Given the description of an element on the screen output the (x, y) to click on. 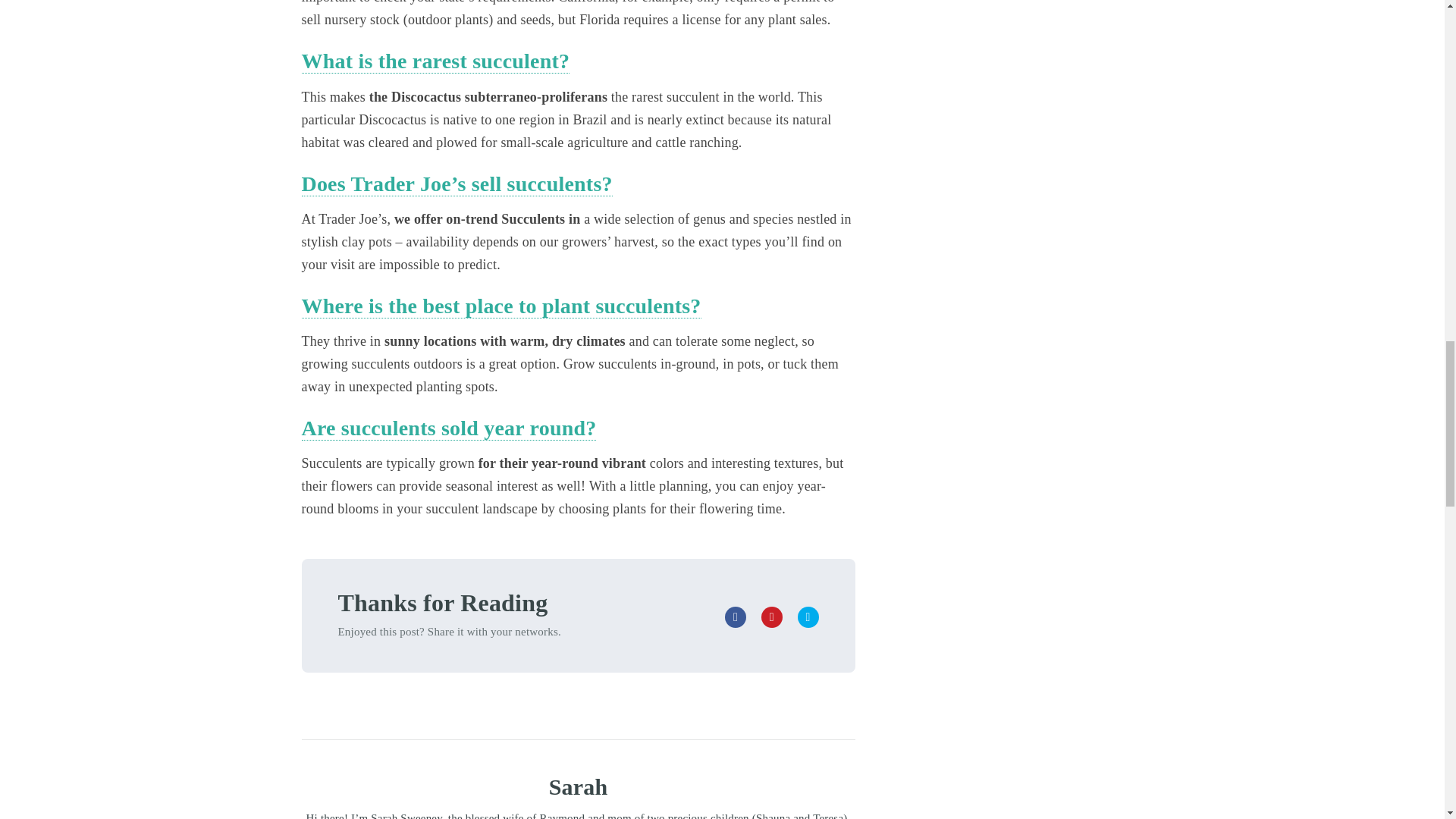
Where is the best place to plant succulents? (501, 306)
Where is the best place to plant succulents? (501, 306)
Does Trader Joe's sell succulents? (456, 183)
What is the rarest succulent? (435, 61)
Sarah (578, 786)
What is the rarest succulent? (435, 61)
Are succulents sold year round? (448, 428)
Are succulents sold year round? (448, 428)
